Given the description of an element on the screen output the (x, y) to click on. 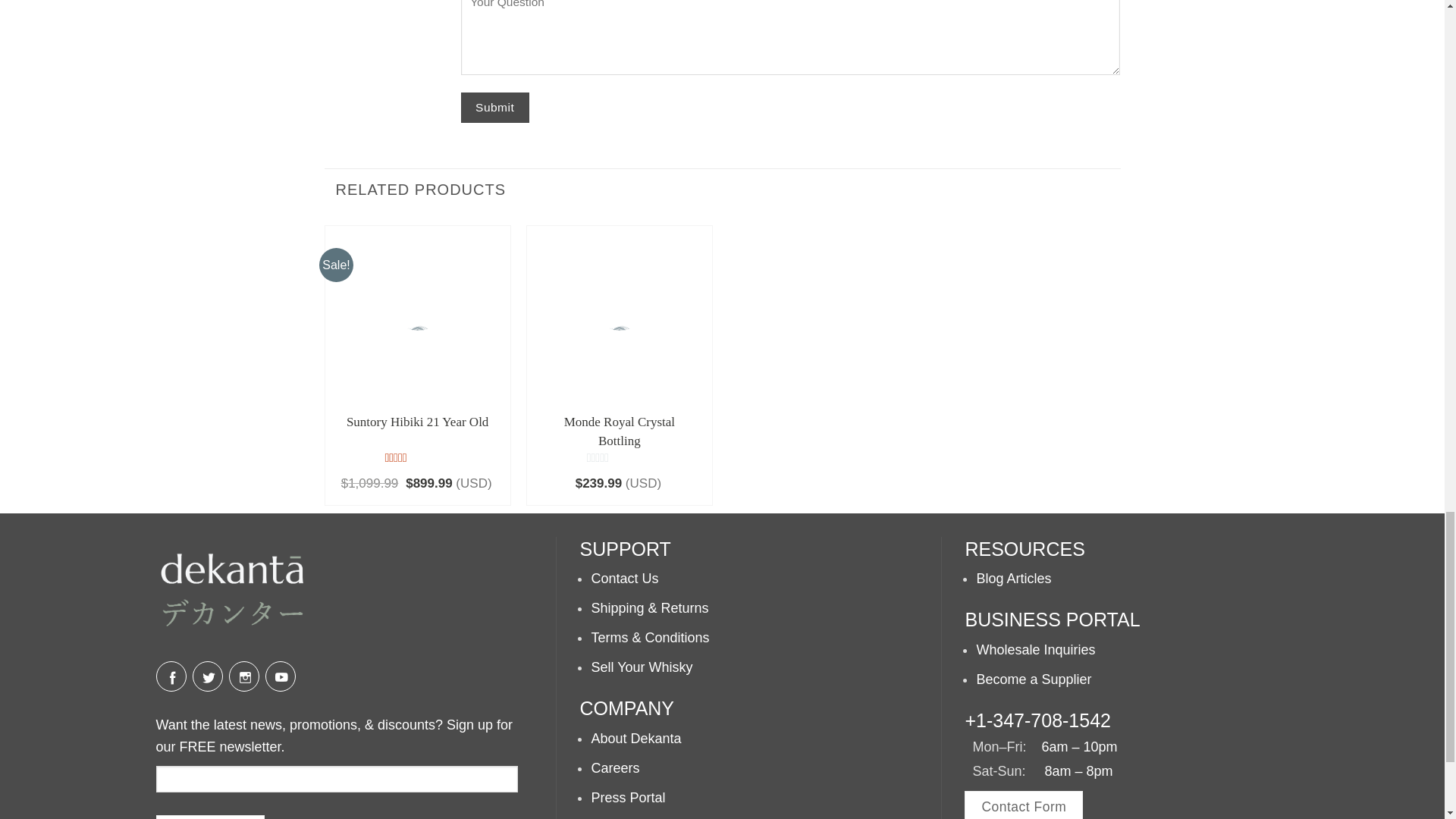
Sign Up! (209, 816)
Submit (495, 107)
